Given the description of an element on the screen output the (x, y) to click on. 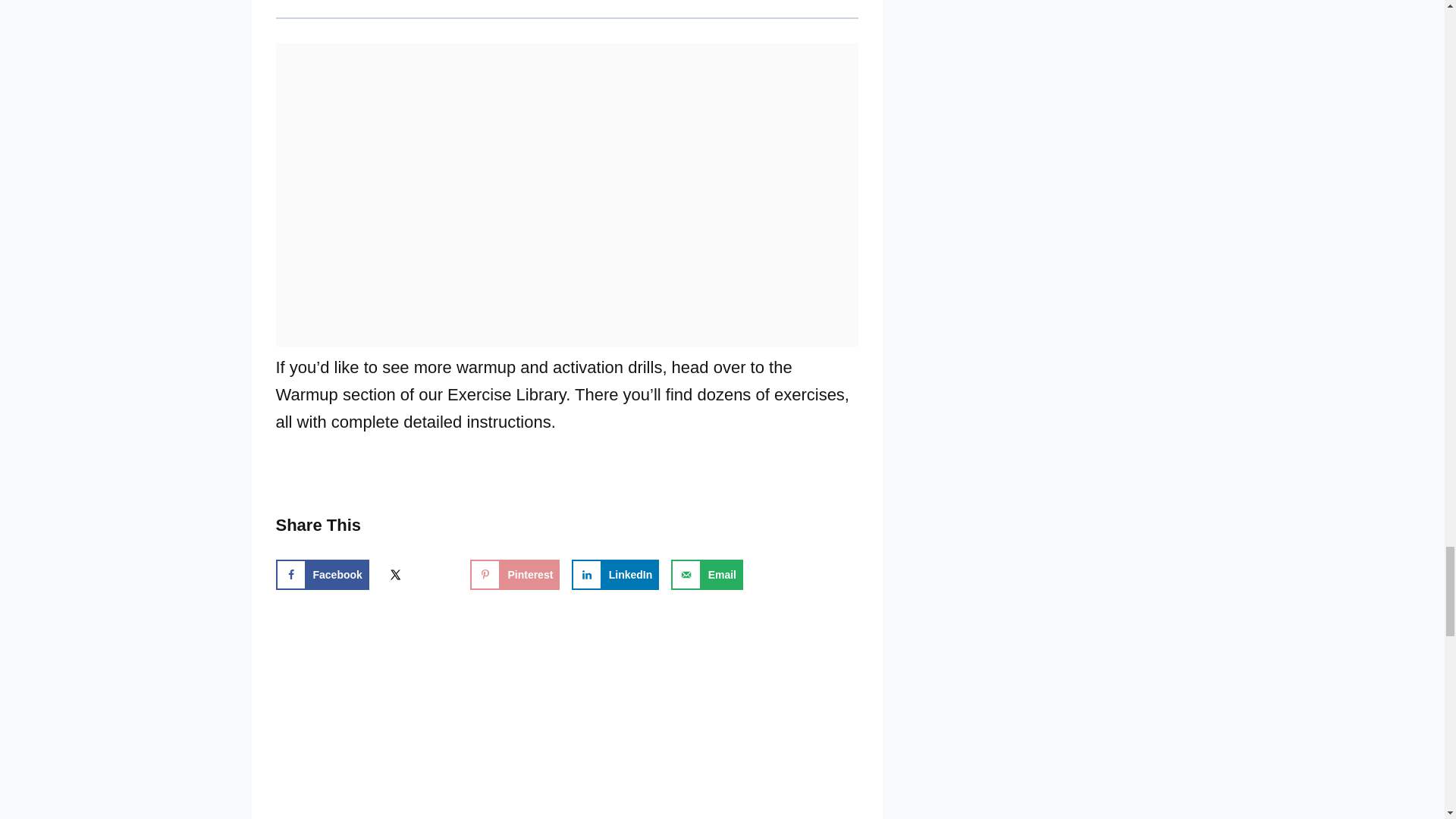
Share on X (419, 574)
Share on LinkedIn (615, 574)
Send over email (706, 574)
Share on Facebook (322, 574)
Save to Pinterest (514, 574)
